Given the description of an element on the screen output the (x, y) to click on. 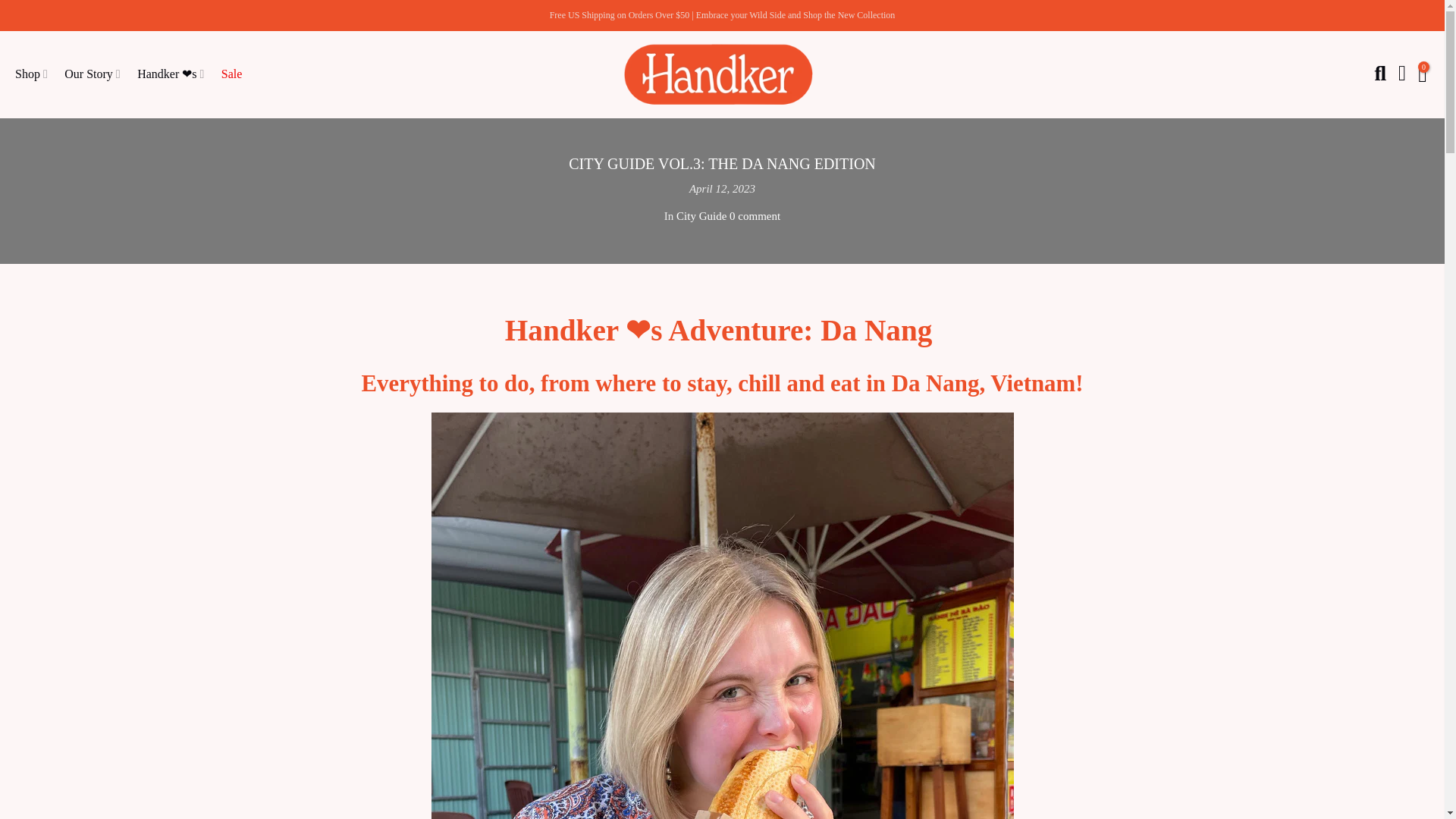
City Guide (701, 215)
0 comment (754, 215)
Our Story (97, 74)
